Given the description of an element on the screen output the (x, y) to click on. 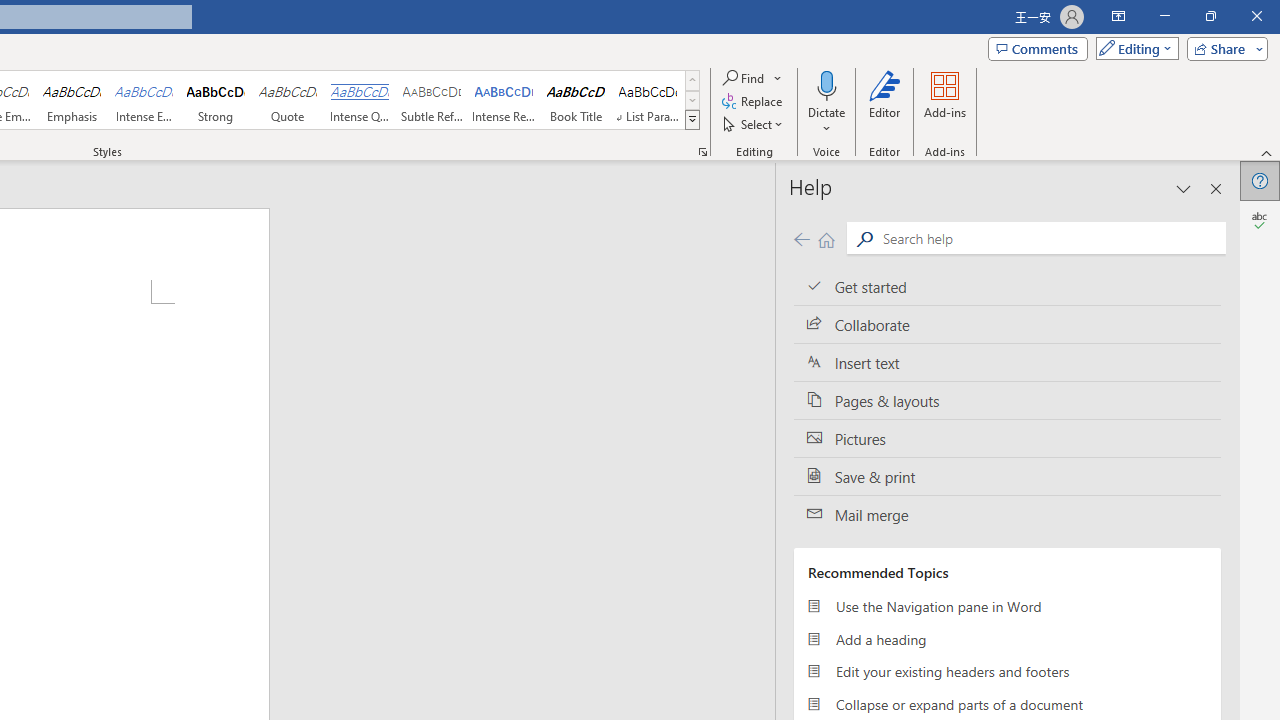
Use the Navigation pane in Word (1007, 605)
Strong (216, 100)
Previous page (801, 238)
Intense Emphasis (143, 100)
Subtle Reference (431, 100)
Mail merge (1007, 515)
